Given the description of an element on the screen output the (x, y) to click on. 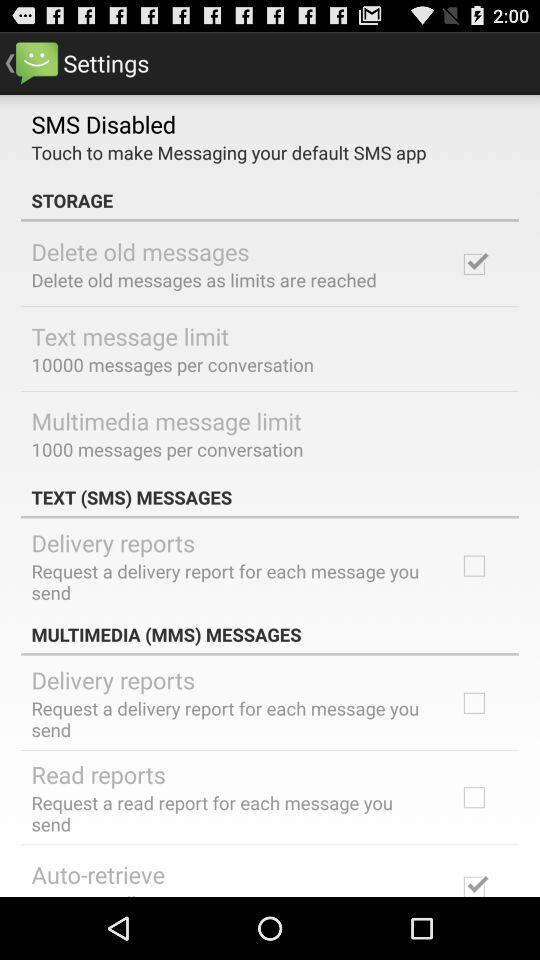
launch the item above touch to make (103, 123)
